Given the description of an element on the screen output the (x, y) to click on. 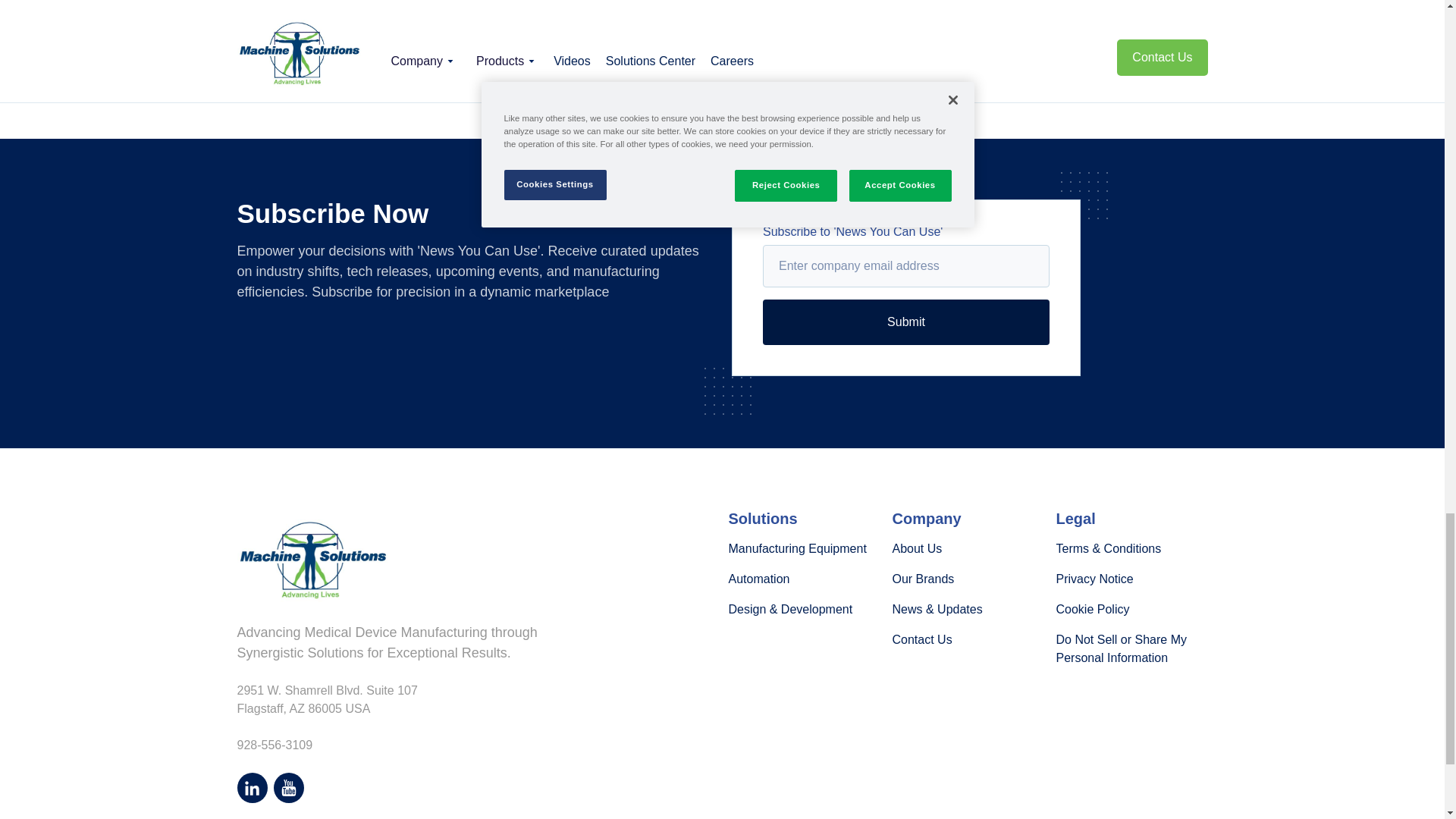
Submit (905, 321)
